Given the description of an element on the screen output the (x, y) to click on. 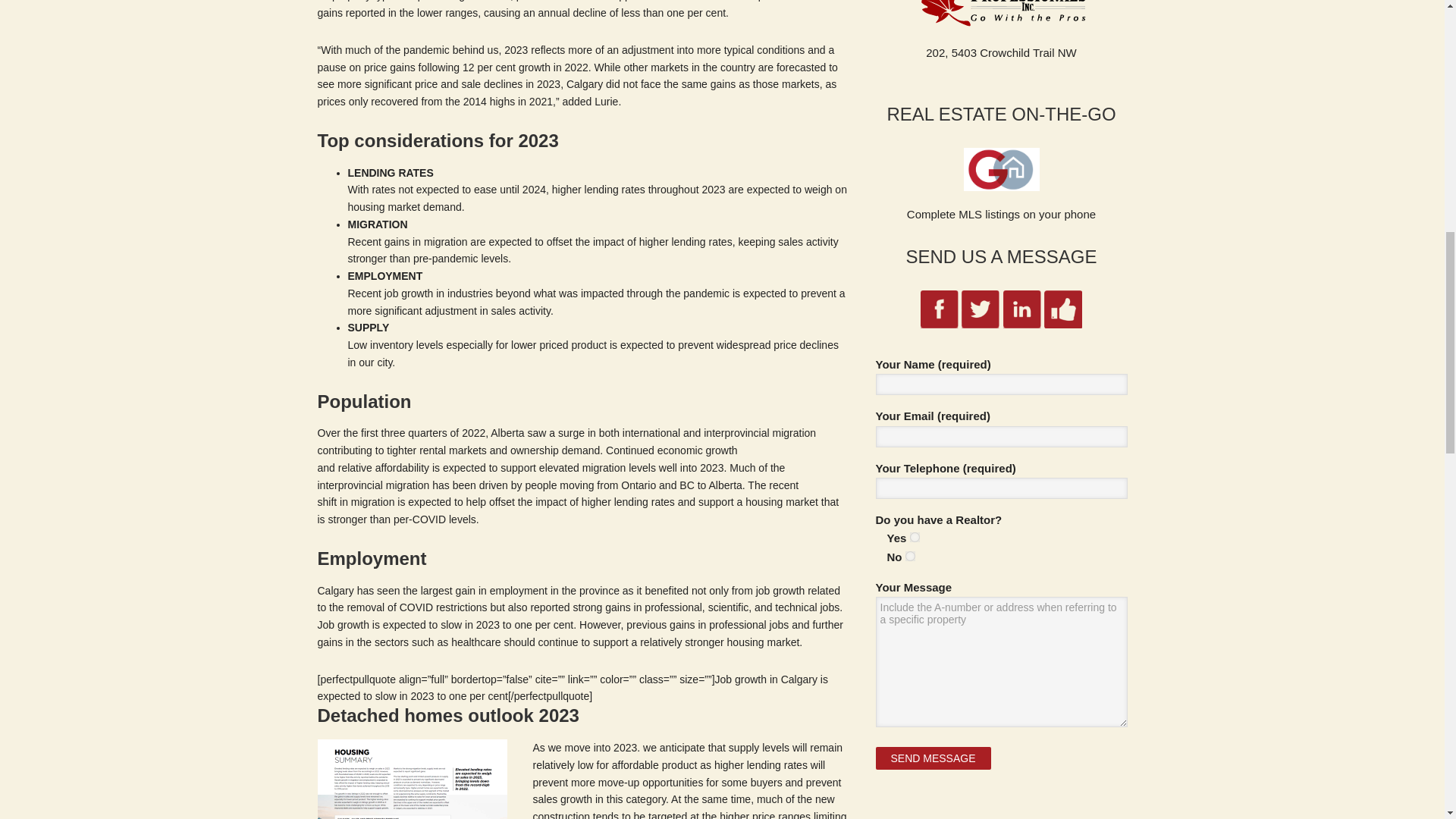
Yes (915, 537)
Send Message (932, 757)
No (910, 556)
